Given the description of an element on the screen output the (x, y) to click on. 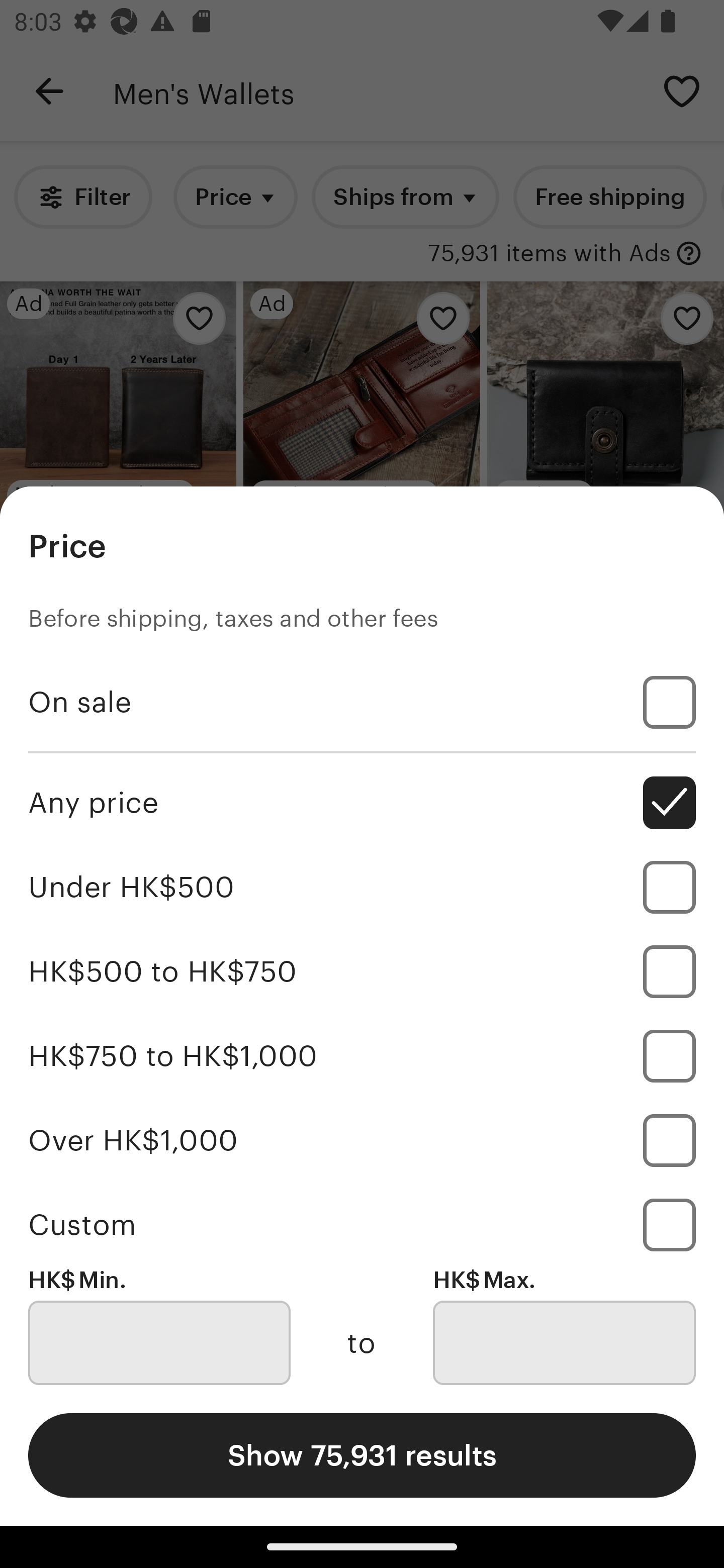
On sale (362, 702)
Any price (362, 802)
Under HK$500 (362, 887)
HK$500 to HK$750 (362, 970)
HK$750 to HK$1,000 (362, 1054)
Over HK$1,000 (362, 1139)
Custom (362, 1224)
Show 75,931 results (361, 1454)
